Given the description of an element on the screen output the (x, y) to click on. 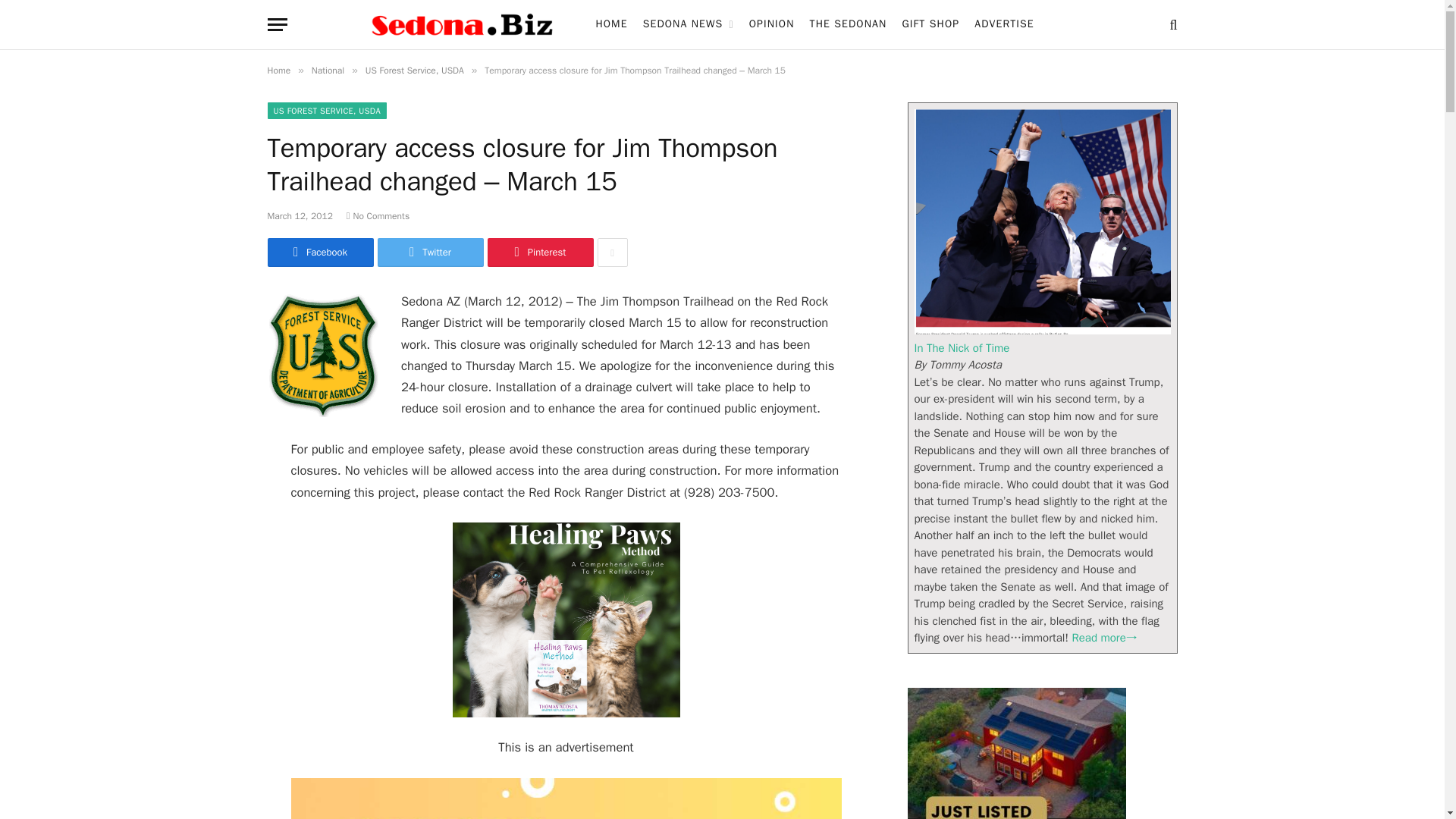
Share on Pinterest (539, 252)
Facebook (319, 252)
GIFT SHOP (929, 24)
OPINION (771, 24)
US Forest Service, USDA (414, 70)
Home (277, 70)
Share on Facebook (319, 252)
HOME (611, 24)
US FOREST SERVICE, USDA (325, 110)
Twitter (430, 252)
ADVERTISE (1004, 24)
Show More Social Sharing (611, 252)
National (327, 70)
Pinterest (539, 252)
Share on Twitter (430, 252)
